Given the description of an element on the screen output the (x, y) to click on. 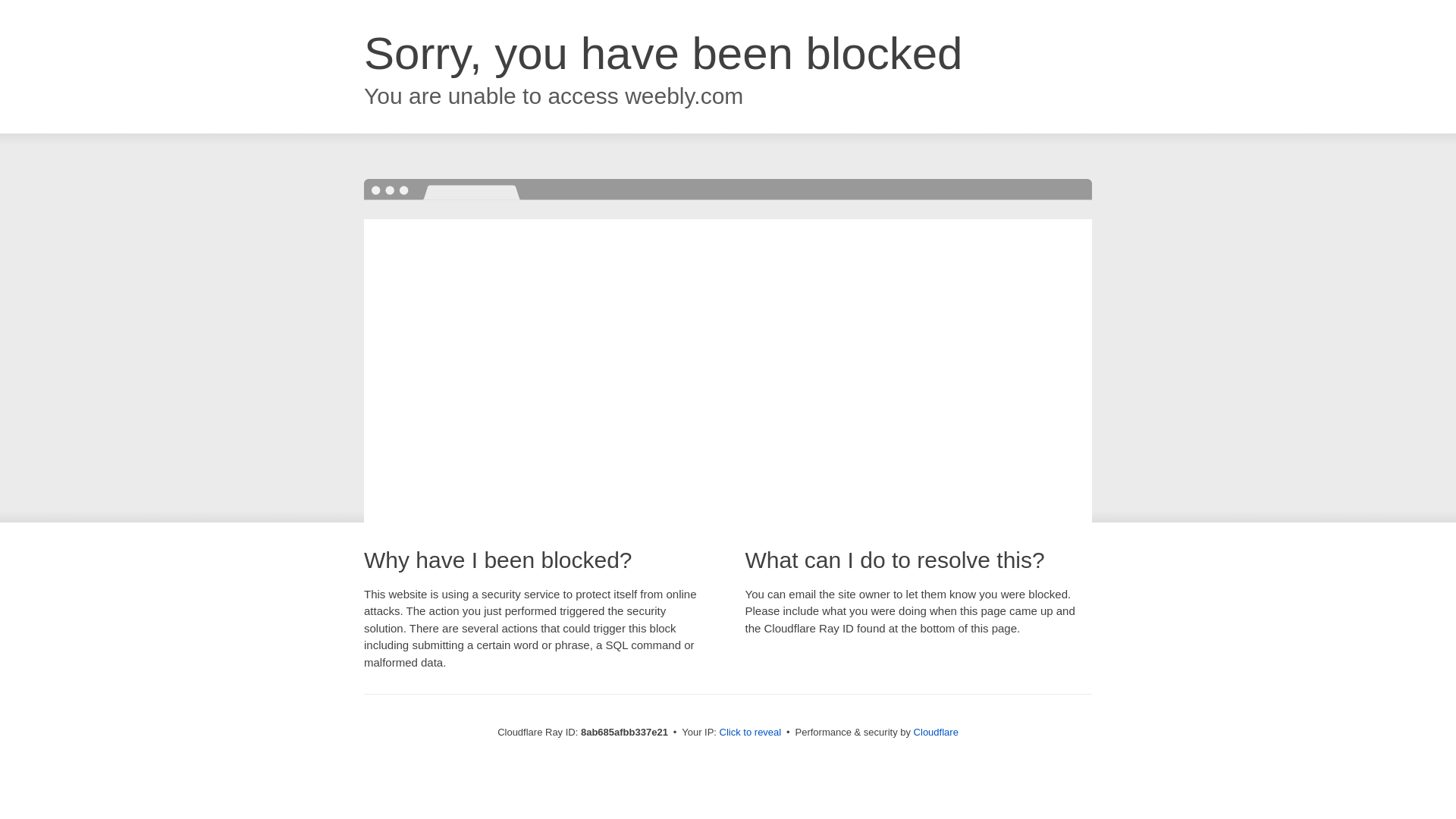
Cloudflare (936, 731)
Click to reveal (750, 732)
